Given the description of an element on the screen output the (x, y) to click on. 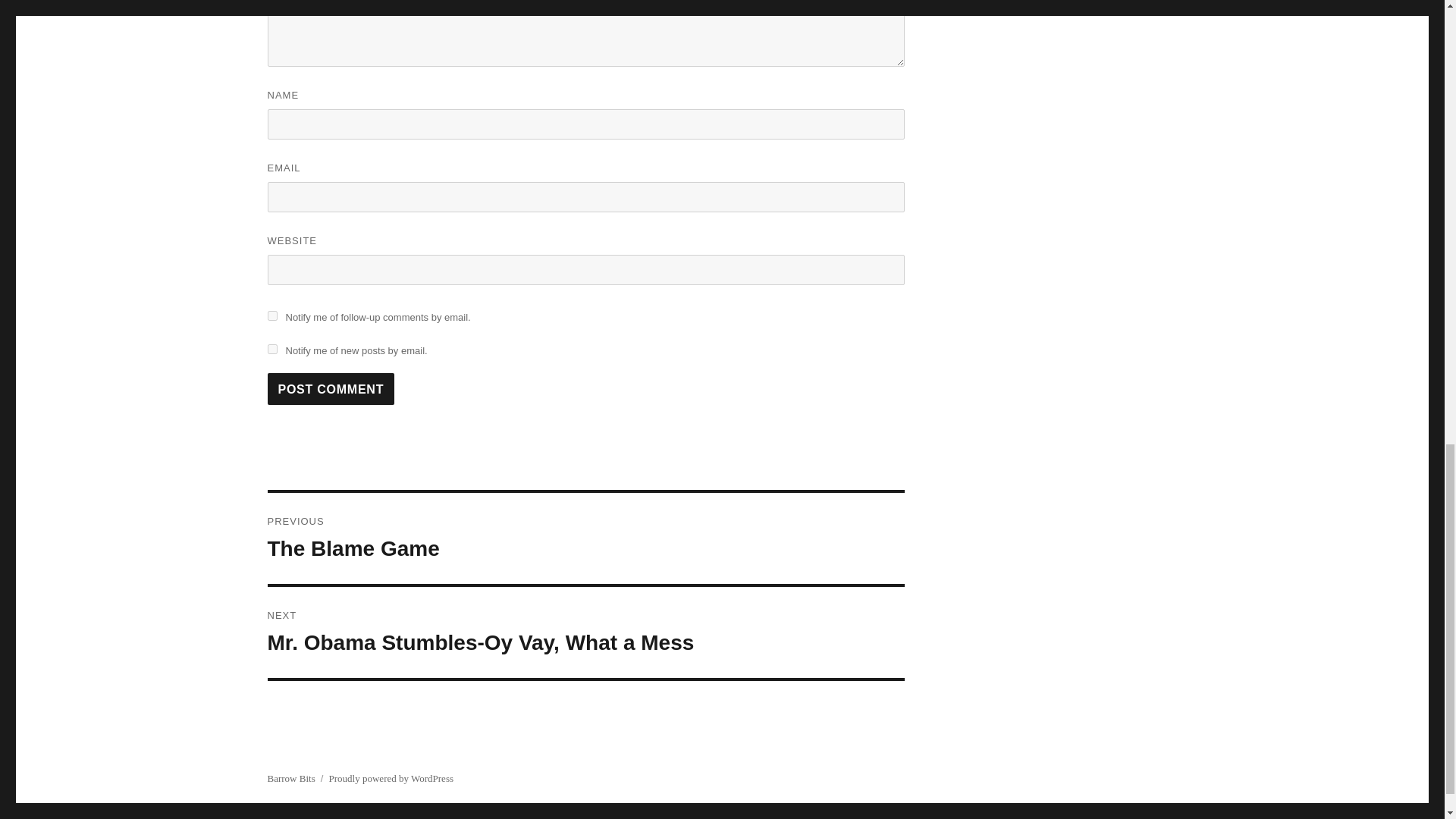
Post Comment (330, 388)
Barrow Bits (290, 778)
subscribe (585, 632)
Proudly powered by WordPress (585, 538)
subscribe (271, 348)
Post Comment (390, 778)
